Given the description of an element on the screen output the (x, y) to click on. 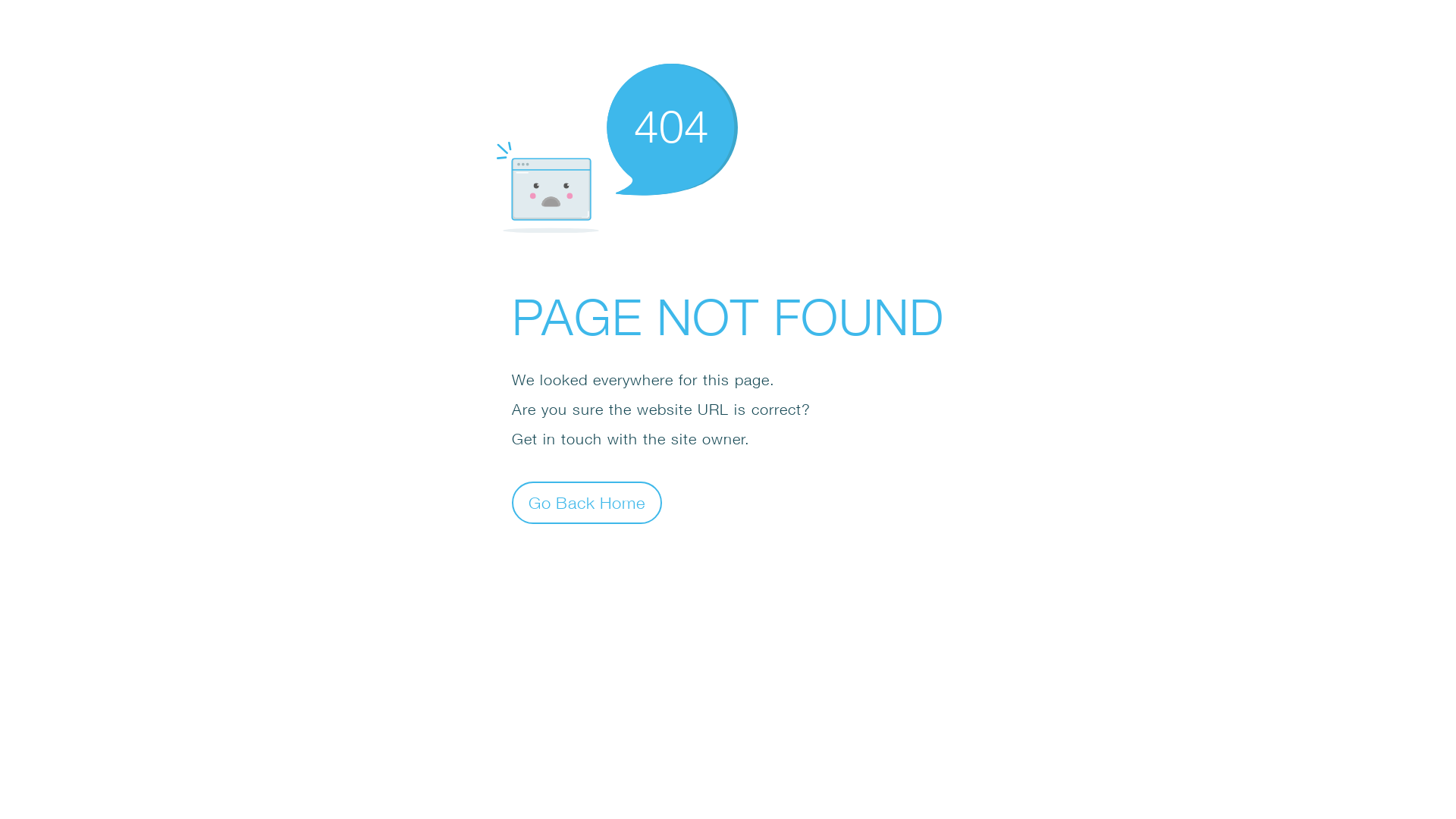
Go Back Home Element type: text (586, 502)
